Given the description of an element on the screen output the (x, y) to click on. 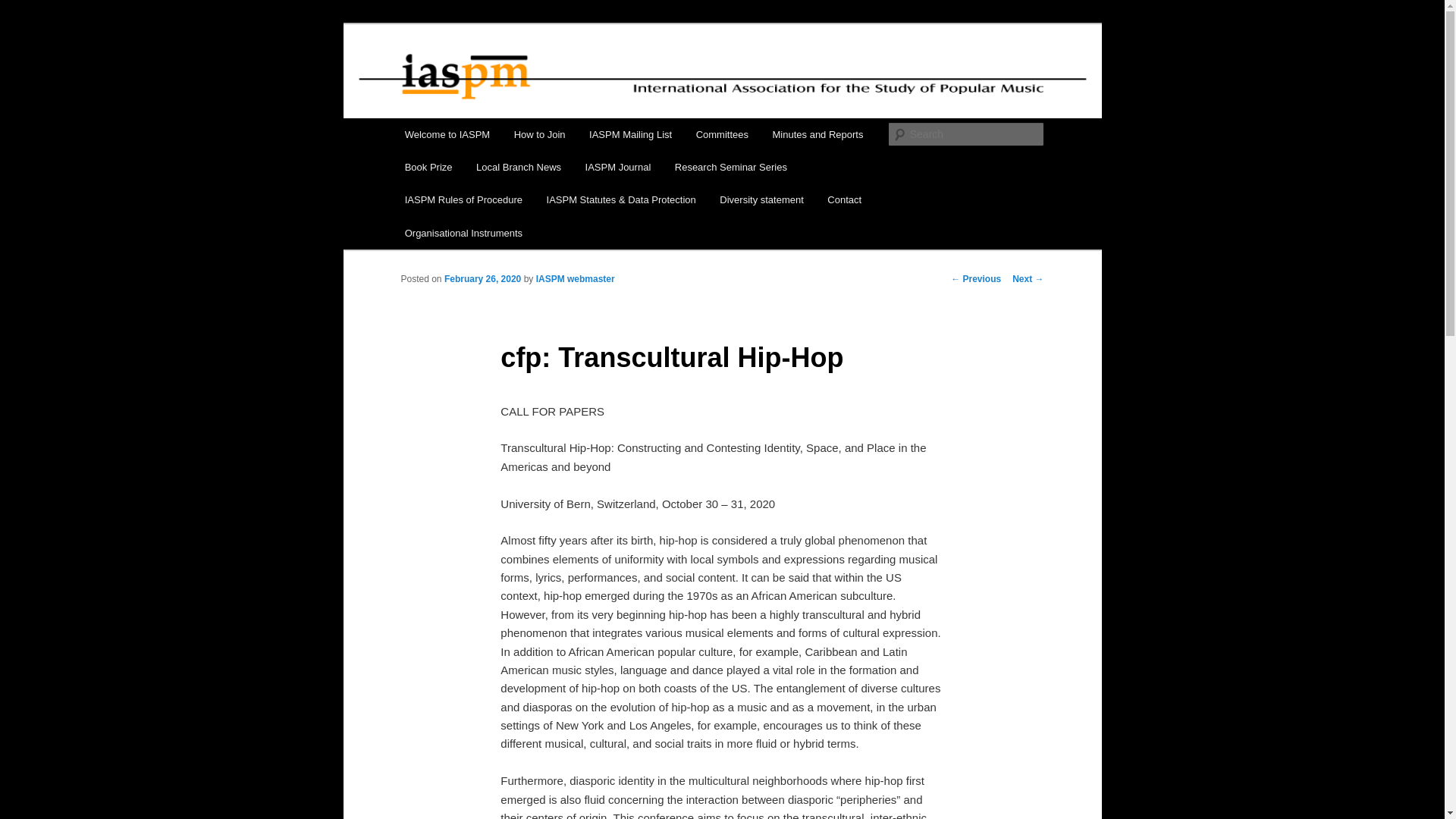
Search (24, 8)
Committees (722, 133)
February 26, 2020 (482, 278)
IASPM Journal (617, 166)
Contact (844, 199)
12:52 pm (482, 278)
Welcome to IASPM (447, 133)
IASPM Mailing List (630, 133)
Diversity statement (761, 199)
How to Join (539, 133)
Local Branch News (518, 166)
Organisational Instruments (463, 233)
Research Seminar Series (730, 166)
Book Prize (428, 166)
